Given the description of an element on the screen output the (x, y) to click on. 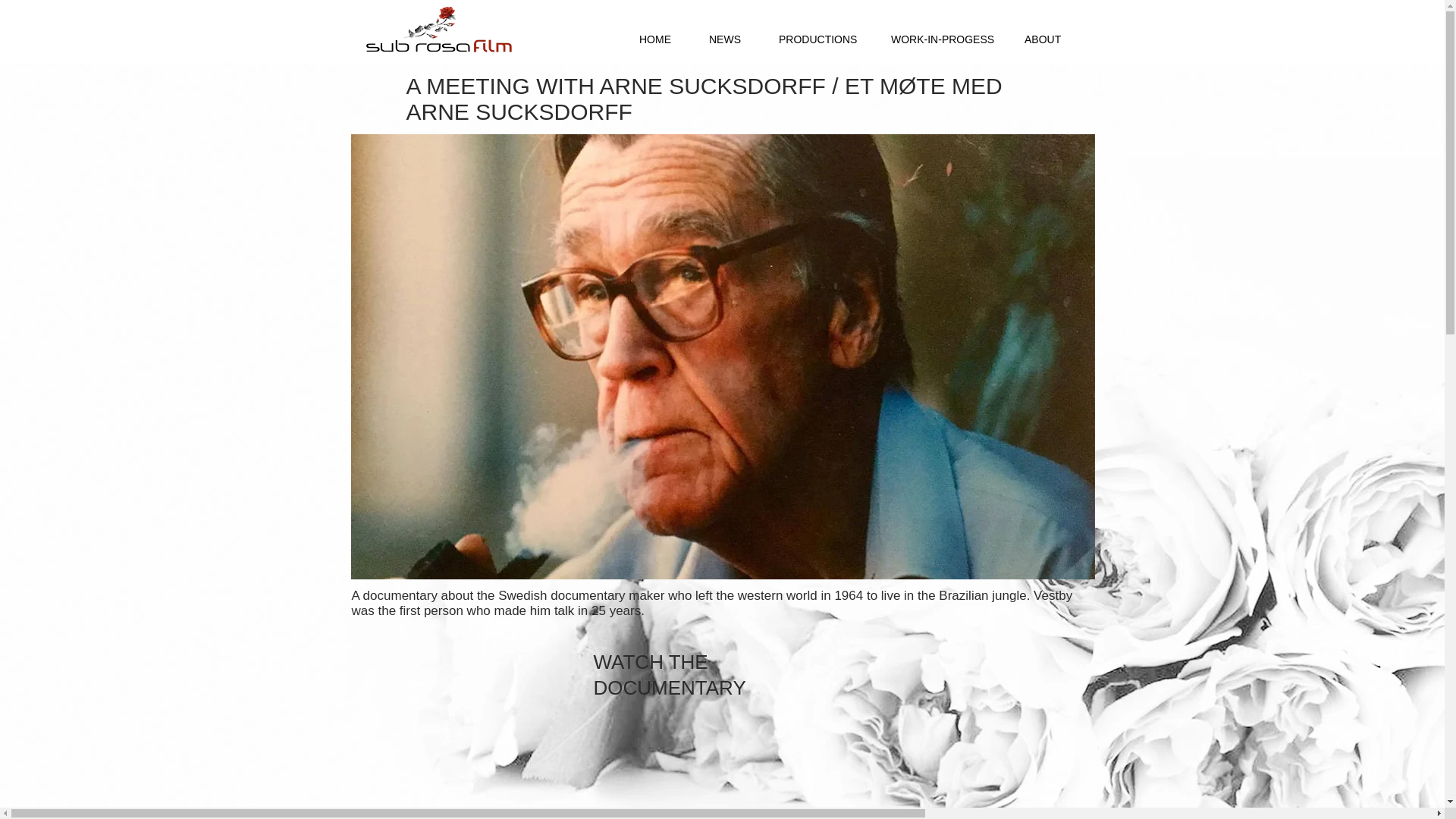
NEWS (725, 39)
HOME (655, 39)
ABOUT (1042, 39)
External Vimeo (723, 767)
